Given the description of an element on the screen output the (x, y) to click on. 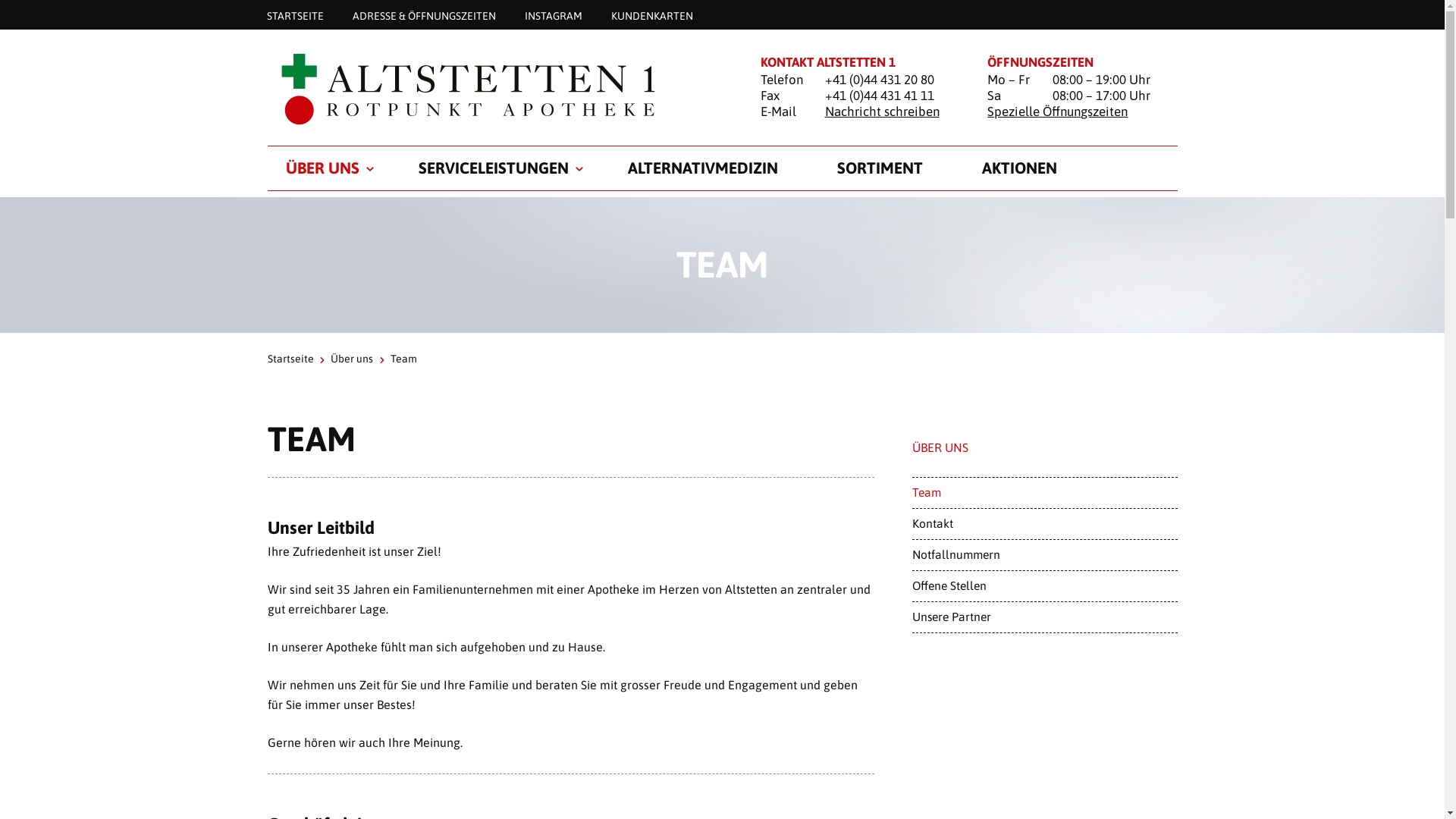
KUNDENKARTEN Element type: text (651, 15)
Startseite Element type: text (289, 358)
Kontakt Element type: text (1043, 523)
INSTAGRAM Element type: text (552, 15)
Unsere Partner Element type: text (1043, 617)
SORTIMENT Element type: text (880, 168)
SERVICELEISTUNGEN Element type: text (493, 168)
Team Element type: text (1043, 492)
STARTSEITE Element type: text (294, 15)
Notfallnummern Element type: text (1043, 554)
AKTIONEN Element type: text (1018, 168)
ALTERNATIVMEDIZIN Element type: text (702, 168)
Startseite Element type: hover (493, 88)
Nachricht schreiben Element type: text (882, 111)
Offene Stellen Element type: text (1043, 586)
